Given the description of an element on the screen output the (x, y) to click on. 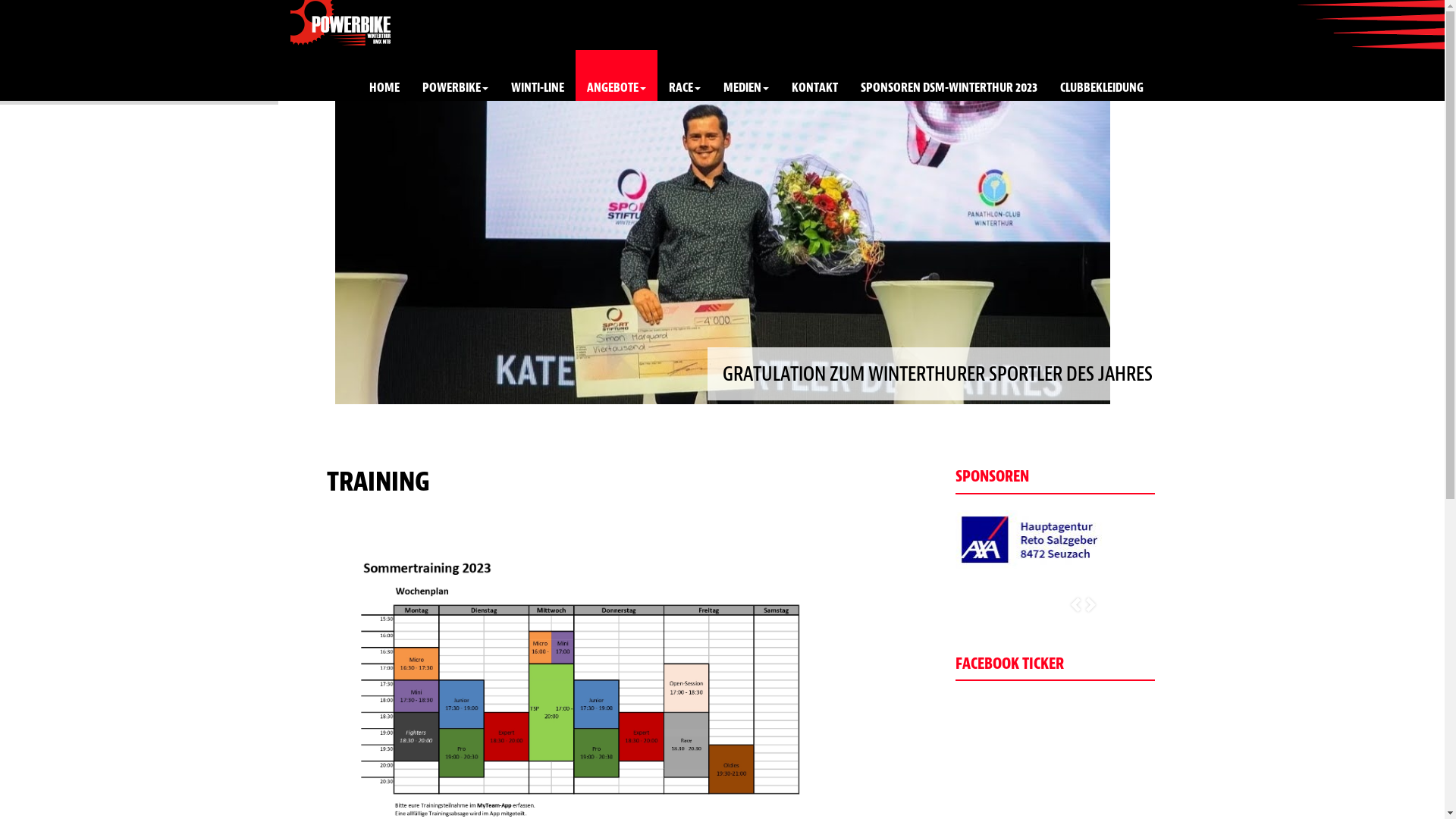
ANGEBOTE Element type: text (615, 75)
POWERBIKE Element type: text (455, 75)
Powerbike Winterthur BMX MTB Club Element type: hover (339, 22)
CLUBBEKLEIDUNG Element type: text (1101, 75)
Lyrenmann Element type: hover (879, 522)
HOME Element type: text (384, 75)
SPONSOREN DSM-WINTERTHUR 2023 Element type: text (948, 75)
RACE Element type: text (683, 75)
KONTAKT Element type: text (813, 75)
MEDIEN Element type: text (745, 75)
WINTI-LINE Element type: text (536, 75)
Axa Seuzach Element type: hover (1031, 538)
